Given the description of an element on the screen output the (x, y) to click on. 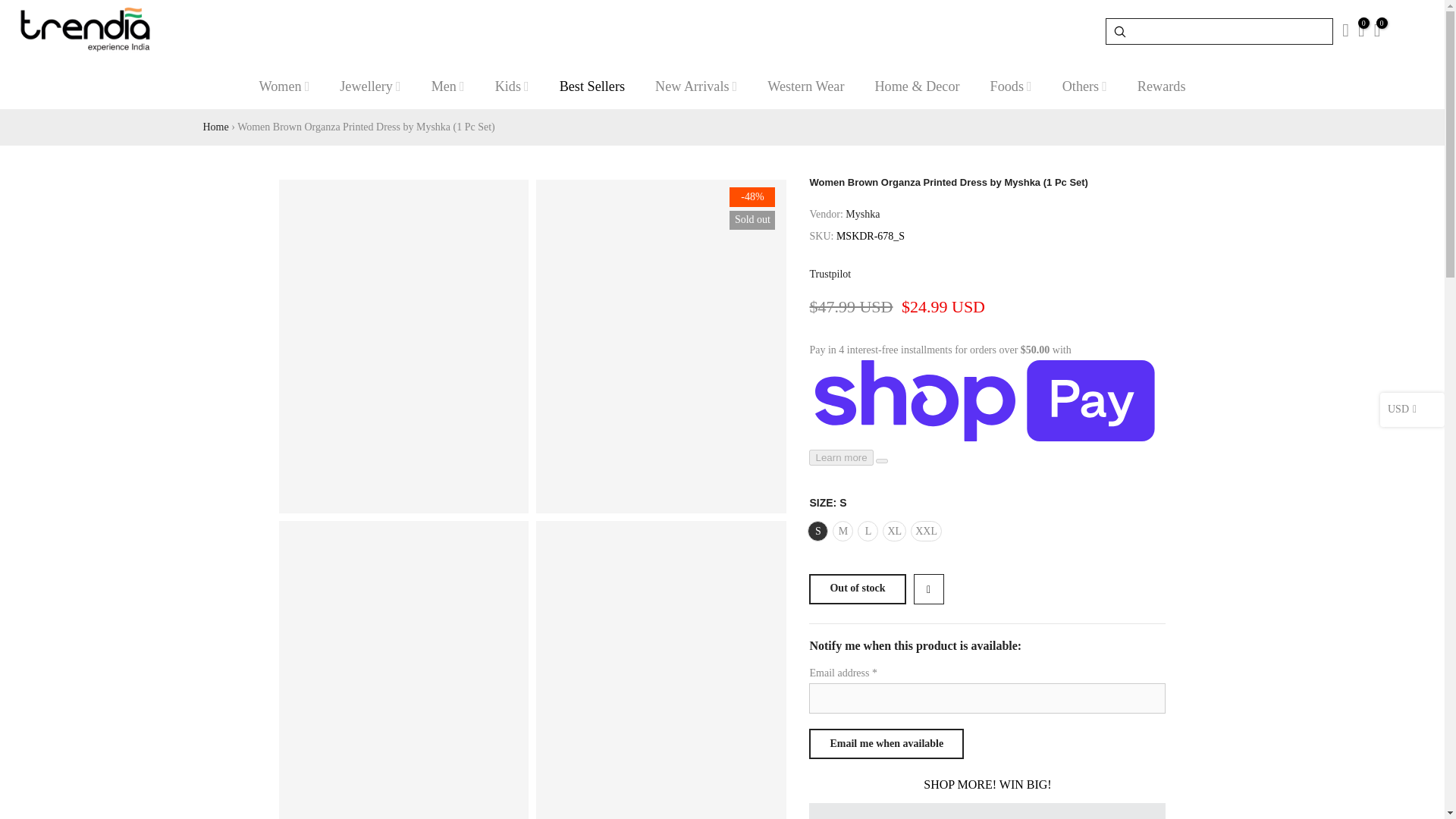
Home (215, 126)
Women (284, 85)
Email me when available (886, 743)
Myshka (862, 214)
